Given the description of an element on the screen output the (x, y) to click on. 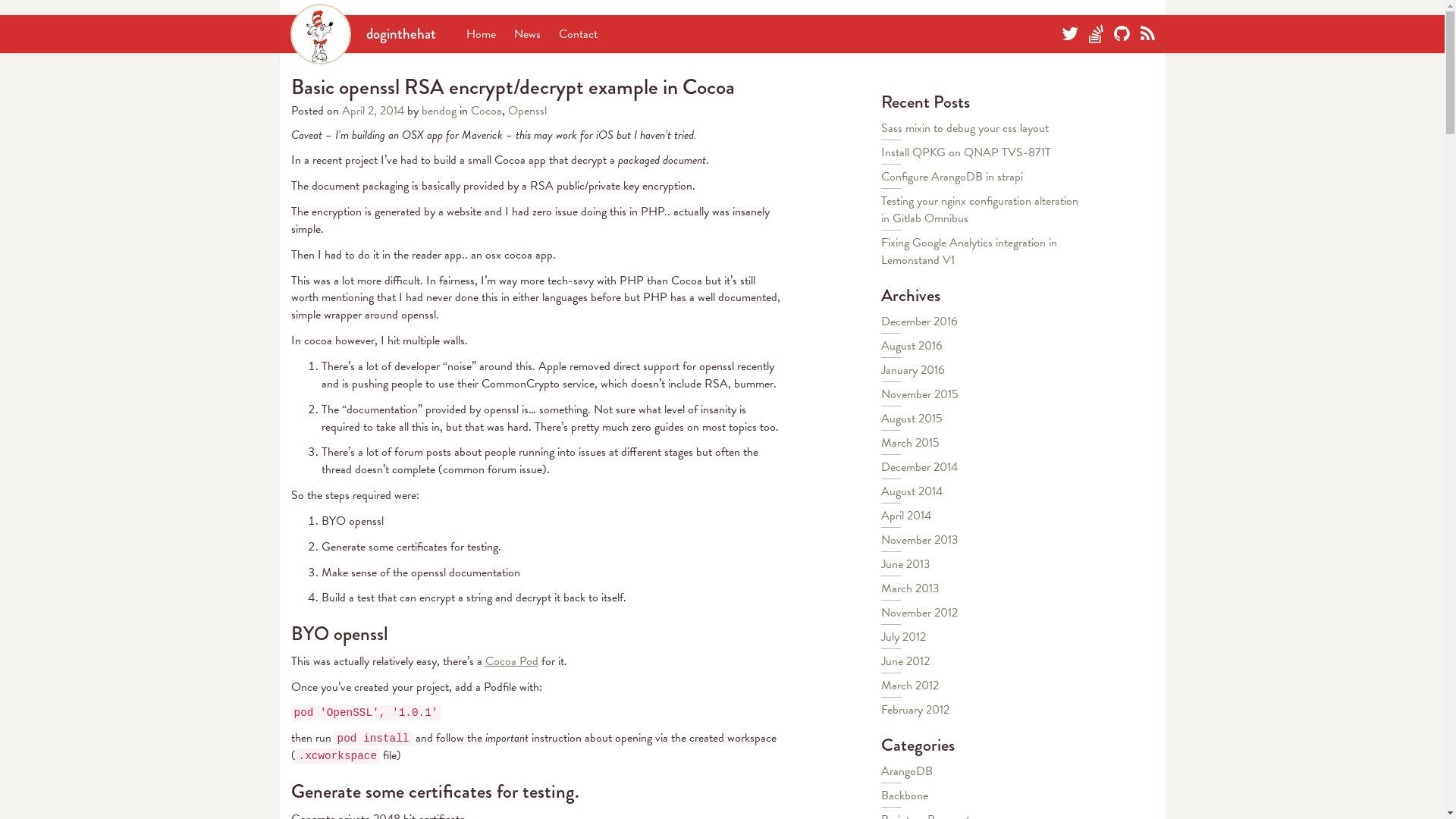
August 2014 Element type: text (911, 491)
ArangoDB Element type: text (906, 771)
Cocoa Pod Element type: text (511, 661)
April 2, 2014 Element type: text (373, 110)
December 2016 Element type: text (919, 321)
August 2016 Element type: text (911, 345)
Backbone Element type: text (904, 795)
Openssl Element type: text (527, 110)
November 2012 Element type: text (919, 612)
Sass mixin to debug your css layout Element type: text (964, 128)
June 2013 Element type: text (905, 564)
I try to help out on Stack Overflow. Element type: hover (1095, 33)
February 2012 Element type: text (915, 709)
March 2015 Element type: text (910, 442)
doginthehat Element type: text (362, 33)
March 2012 Element type: text (909, 685)
bendog Element type: text (438, 110)
I sometime contribute to github. Element type: hover (1121, 33)
Configure ArangoDB in strapi Element type: text (951, 176)
Cocoa Element type: text (485, 110)
December 2014 Element type: text (919, 467)
January 2016 Element type: text (912, 369)
March 2013 Element type: text (910, 588)
June 2012 Element type: text (905, 661)
Home Element type: text (480, 34)
Contact Element type: text (577, 34)
News Element type: text (527, 34)
November 2013 Element type: text (919, 539)
November 2015 Element type: text (919, 394)
August 2015 Element type: text (911, 418)
Fixing Google Analytics integration in Lemonstand V1 Element type: text (969, 251)
I seldom post witty comments on Twitter. Element type: hover (1069, 33)
Install QPKG on QNAP TVS-871T Element type: text (966, 152)
July 2012 Element type: text (903, 636)
April 2014 Element type: text (906, 515)
